Given the description of an element on the screen output the (x, y) to click on. 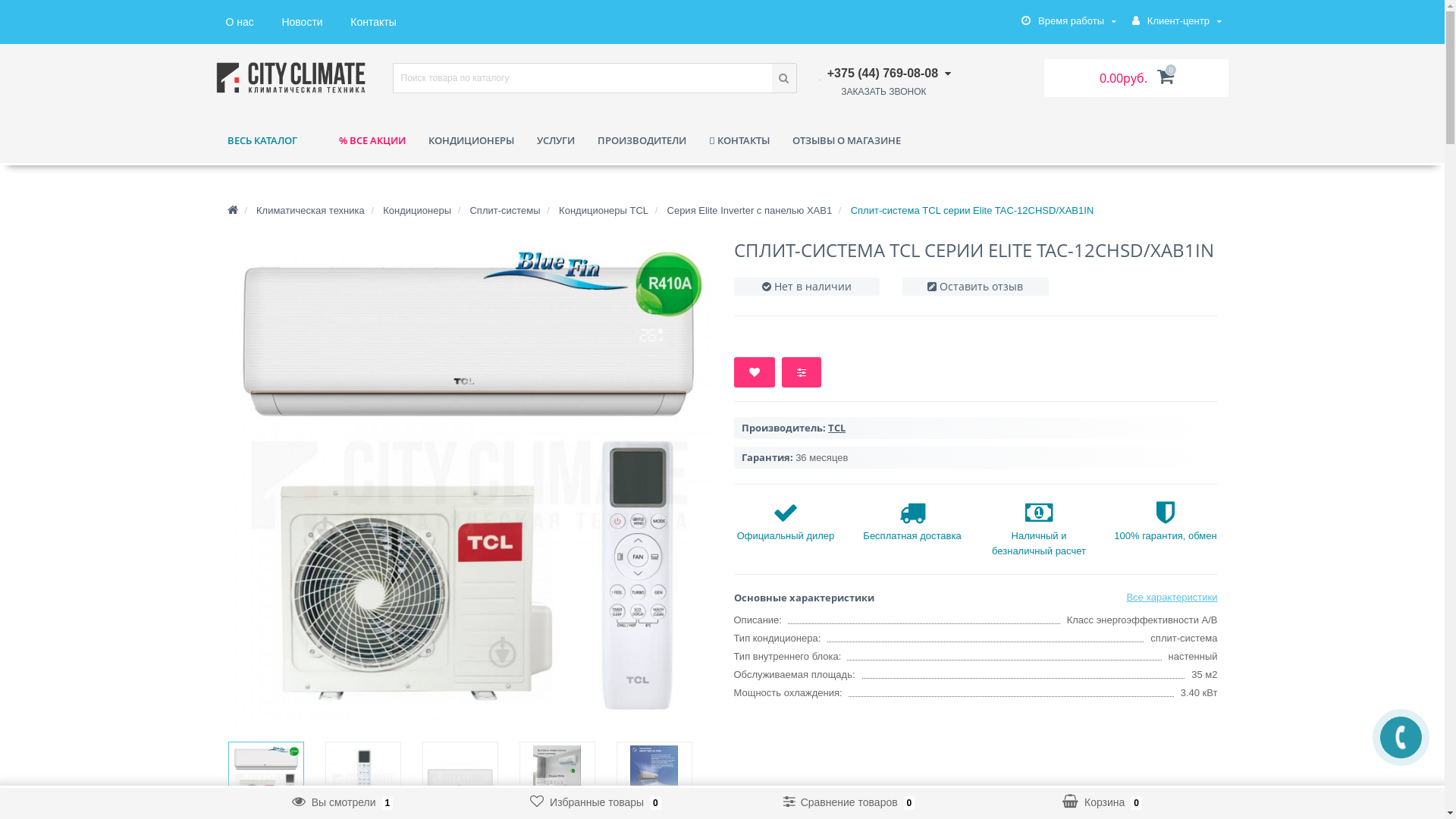
+375 (44) 769-08-08 Element type: text (884, 72)
TCL Element type: text (836, 427)
